Given the description of an element on the screen output the (x, y) to click on. 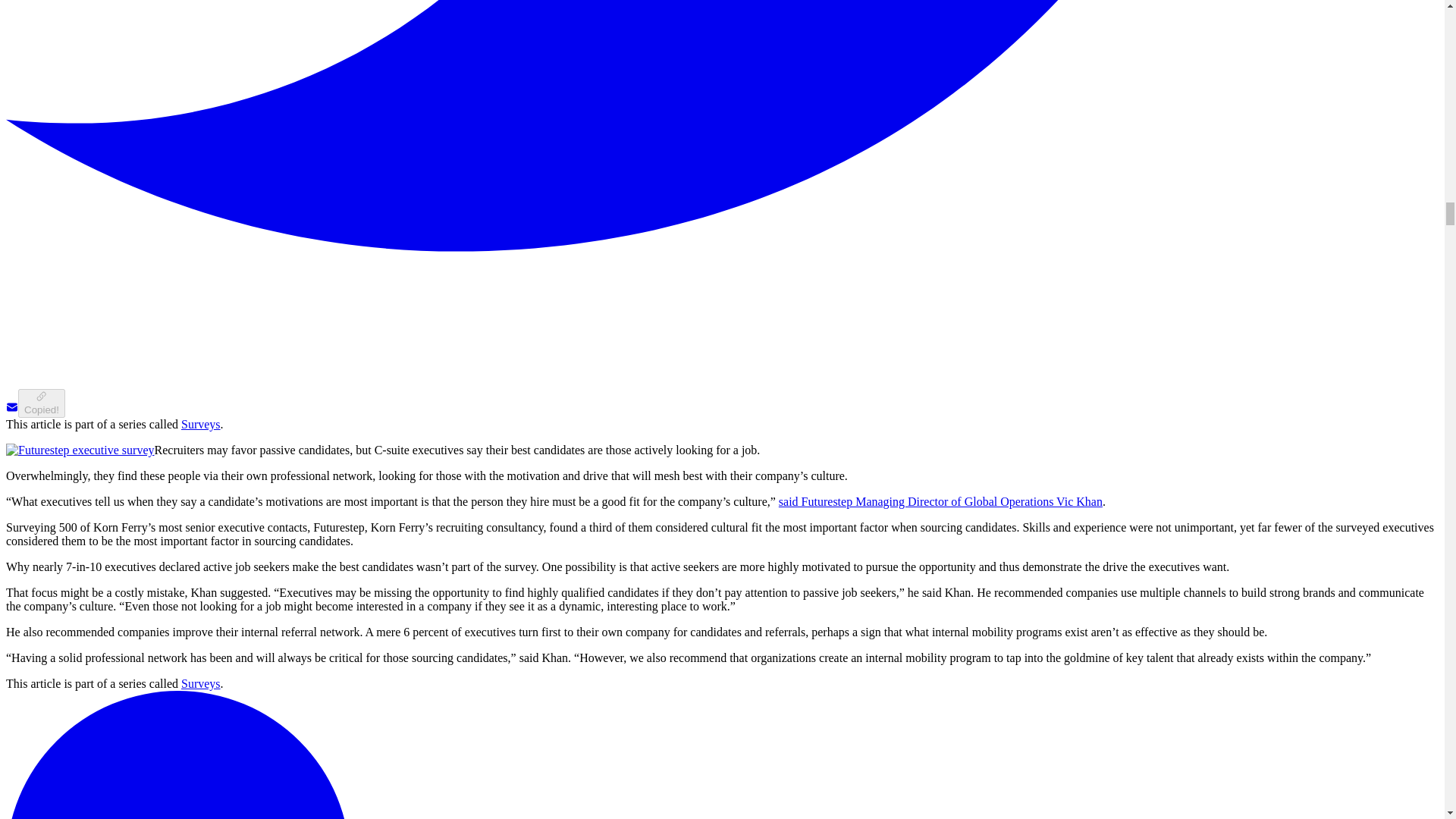
Surveys (200, 423)
Surveys (200, 683)
Copied! (41, 402)
